Given the description of an element on the screen output the (x, y) to click on. 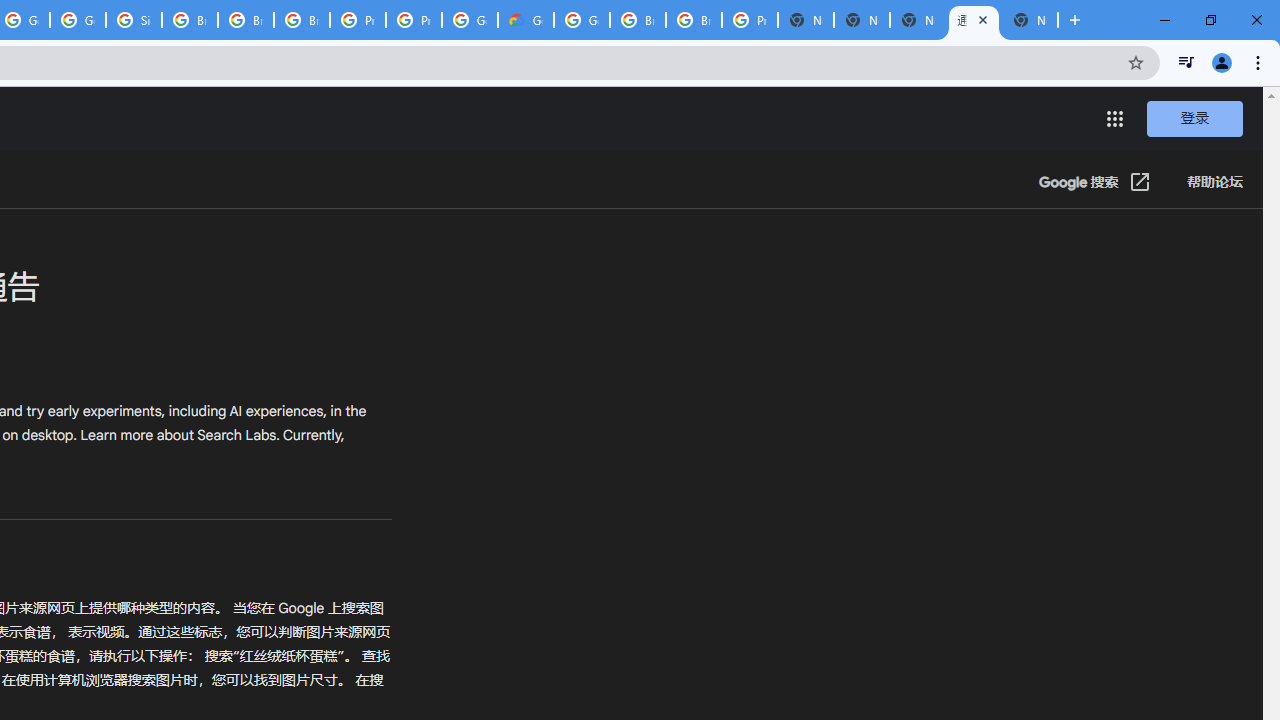
Browse Chrome as a guest - Computer - Google Chrome Help (693, 20)
Google Cloud Platform (469, 20)
Browse Chrome as a guest - Computer - Google Chrome Help (637, 20)
Control your music, videos, and more (1185, 62)
